Given the description of an element on the screen output the (x, y) to click on. 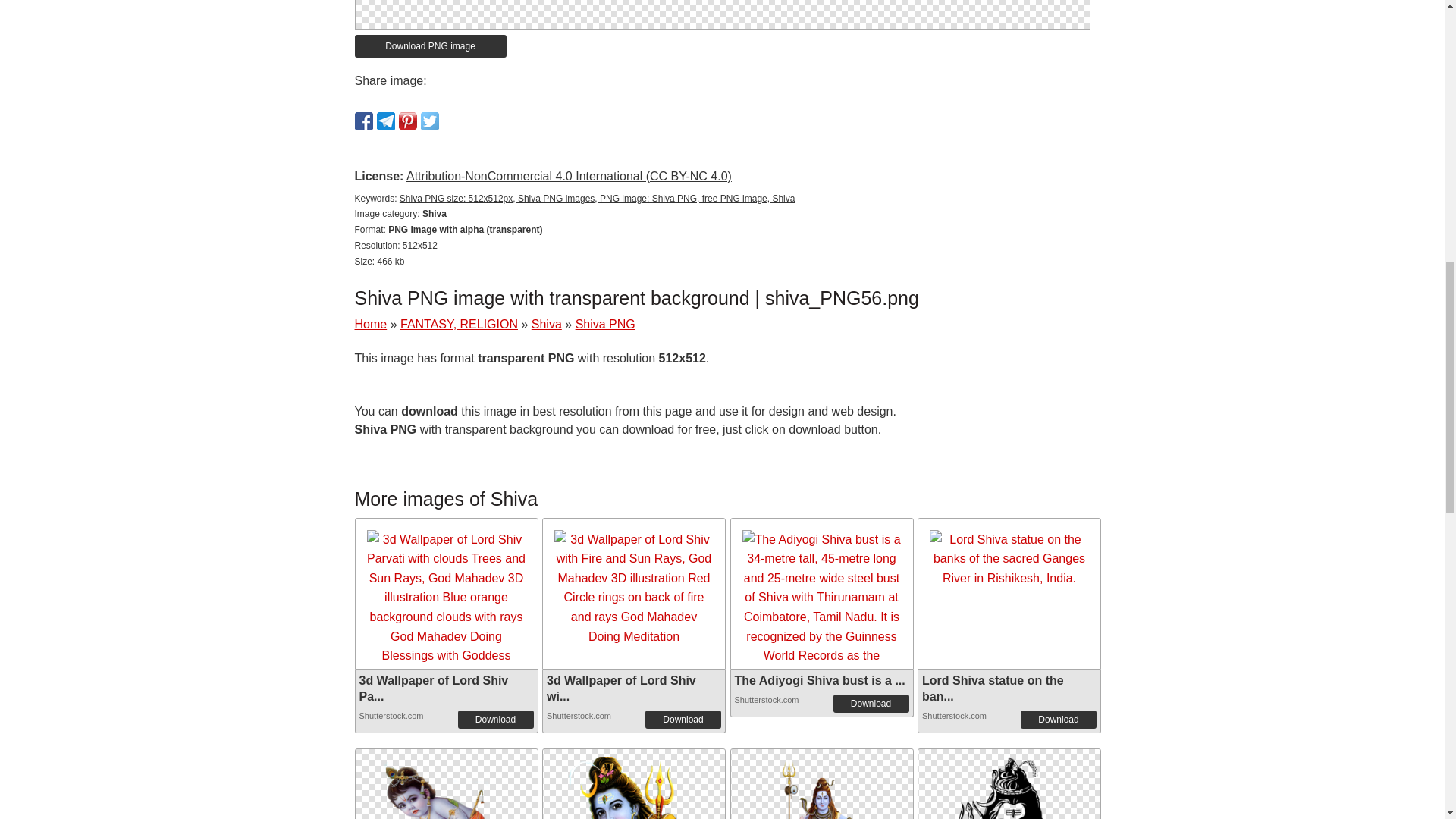
Home (371, 323)
The Adiyogi Shiva bust is a ... (818, 680)
Shiva (546, 323)
3d Wallpaper of Lord Shiv wi... (621, 688)
Pin (407, 121)
Share in Facebook (363, 121)
Download (870, 703)
Shiva PNG (821, 784)
Download (682, 719)
Shiva PNG (445, 784)
Shiva PNG (821, 816)
